Given the description of an element on the screen output the (x, y) to click on. 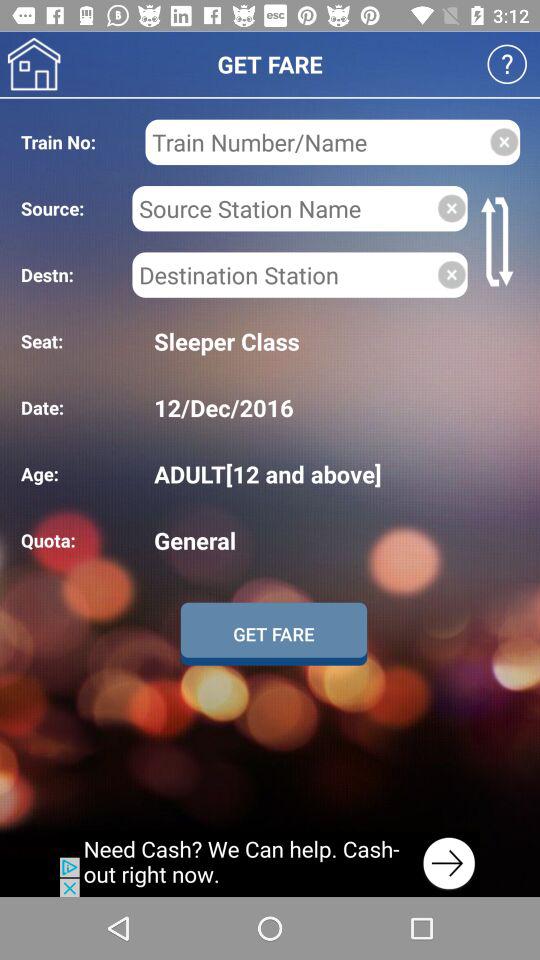
close (451, 274)
